Given the description of an element on the screen output the (x, y) to click on. 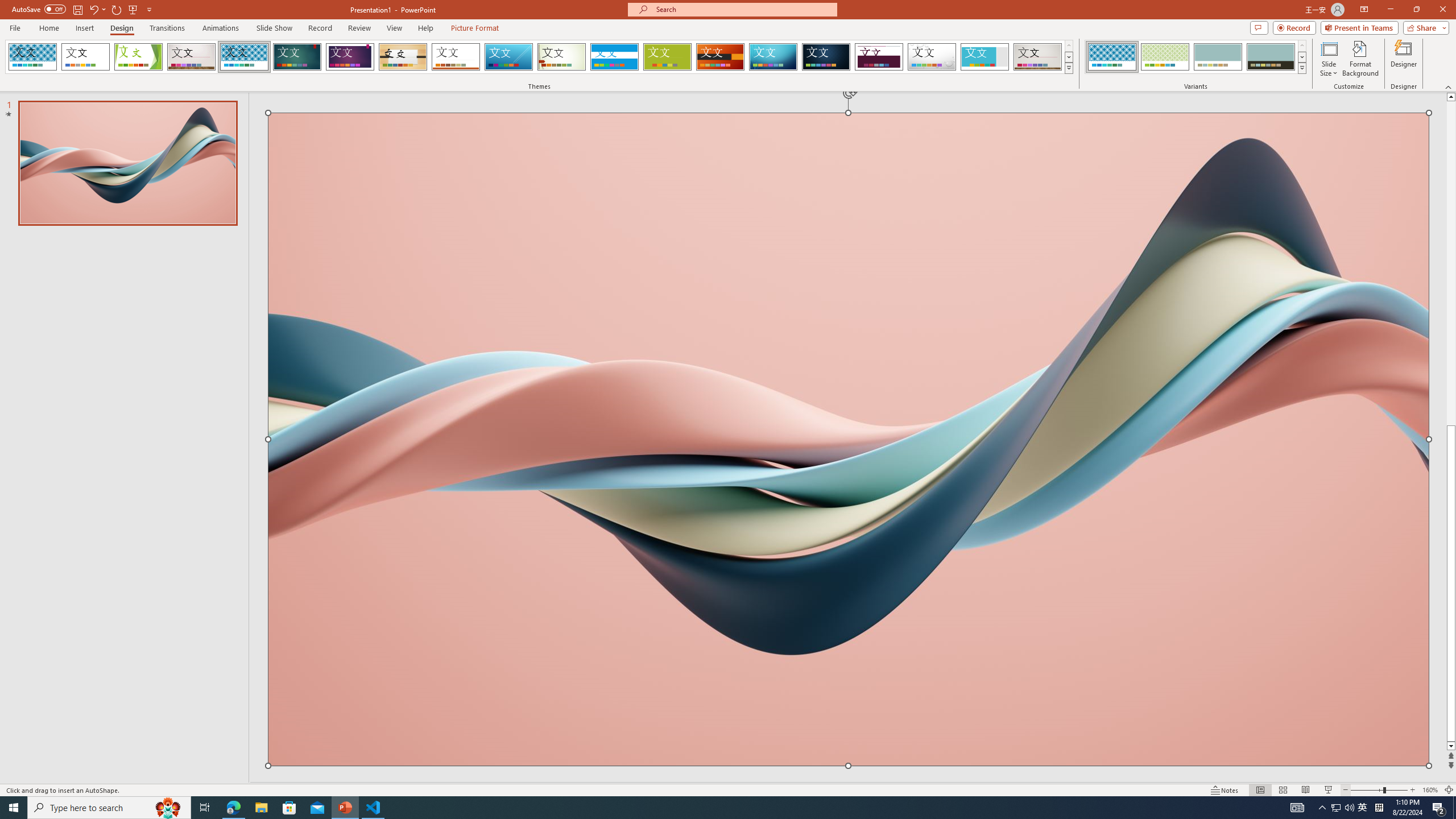
Gallery (1037, 56)
Integral (244, 56)
Wavy 3D art (847, 439)
Slice (508, 56)
Slide (127, 163)
Line up (1450, 96)
Themes (1068, 67)
